Given the description of an element on the screen output the (x, y) to click on. 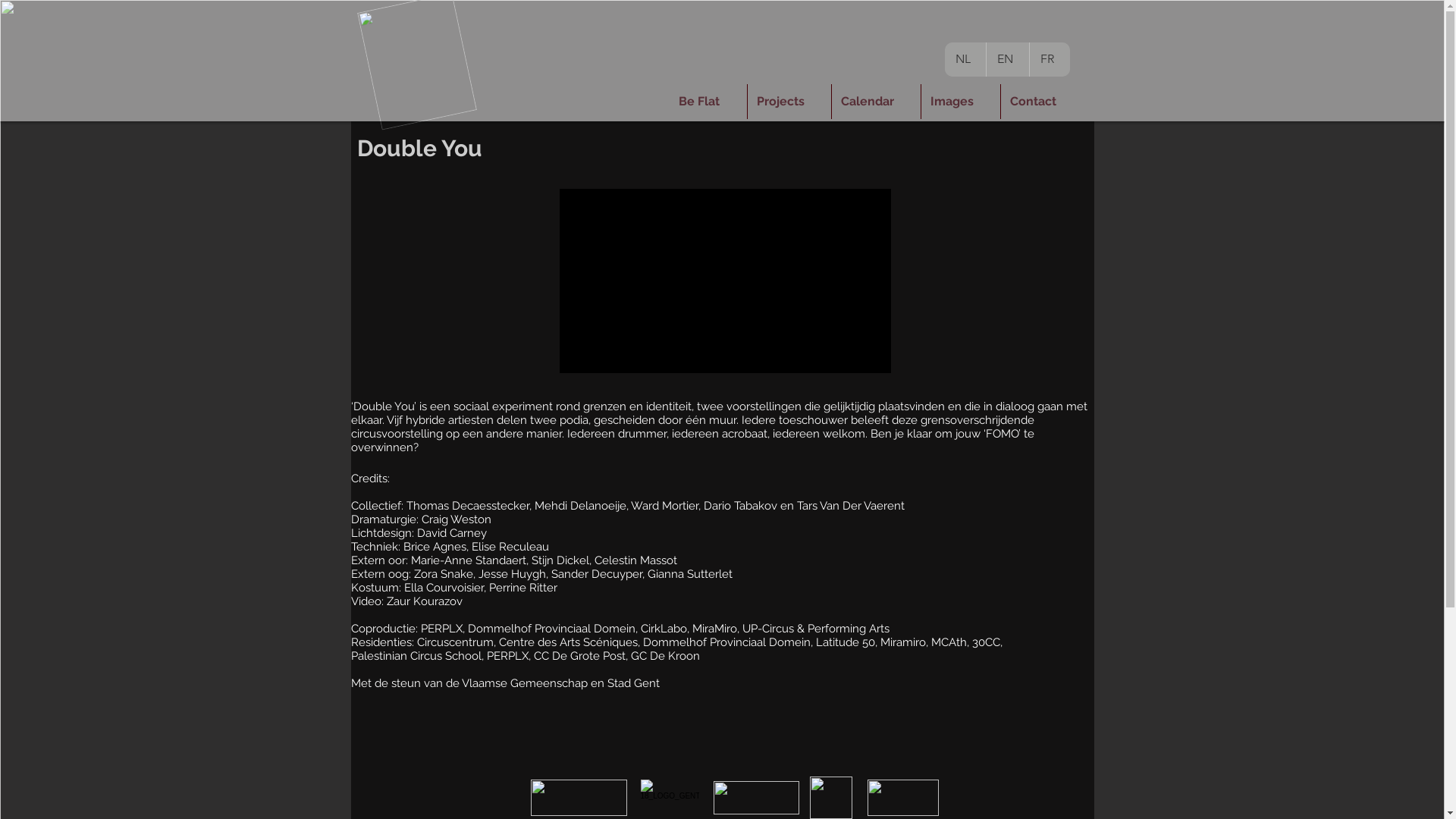
NL Element type: text (965, 59)
IMG_3741.JPG Element type: hover (755, 797)
IMG-3739 (1).PNG Element type: hover (578, 797)
Contact Element type: text (1041, 101)
FR Element type: text (1049, 59)
Be Flat Element type: text (707, 101)
EN Element type: text (1007, 59)
Projects Element type: text (789, 101)
Calendar Element type: text (875, 101)
Images Element type: text (959, 101)
IMG_3743.JPG Element type: hover (902, 797)
